Given the description of an element on the screen output the (x, y) to click on. 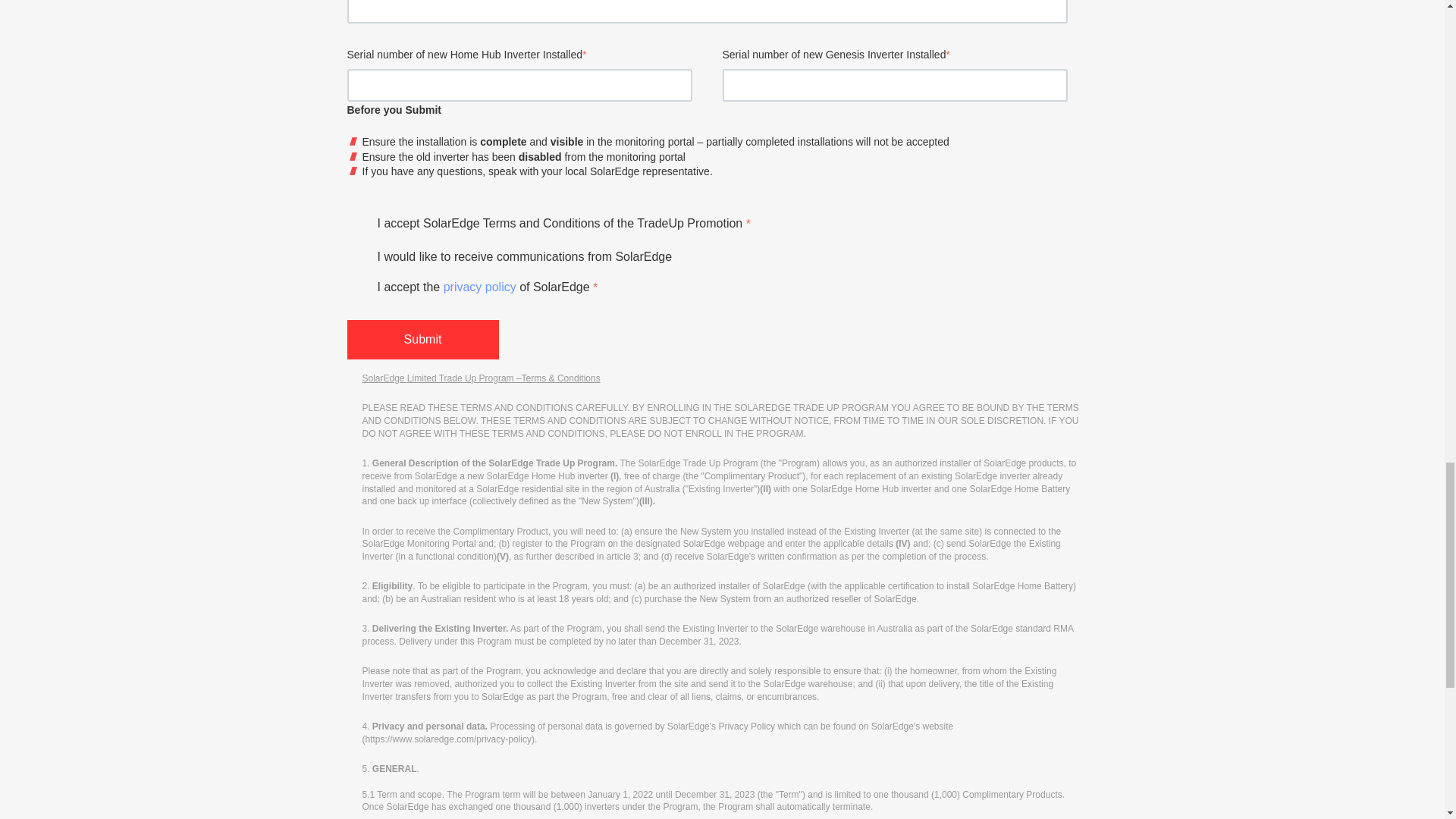
Submit (423, 339)
Submit (423, 339)
privacy policy (480, 286)
